Given the description of an element on the screen output the (x, y) to click on. 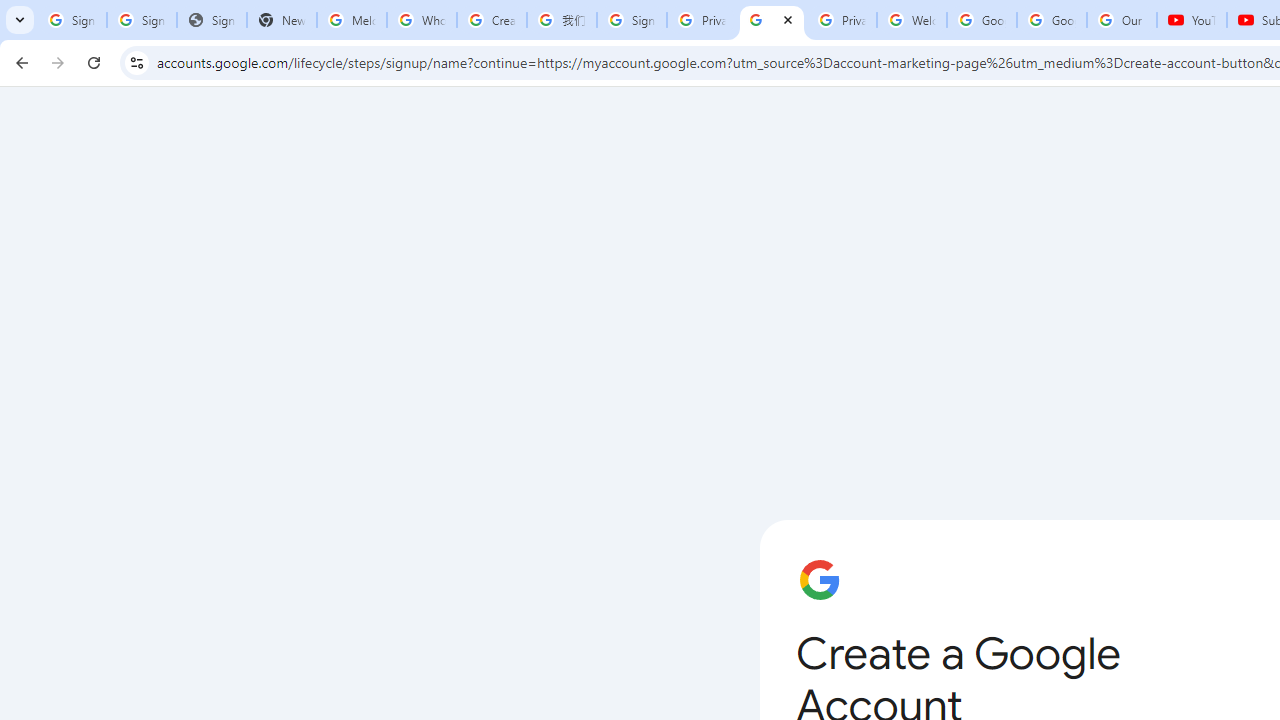
YouTube (1192, 20)
Sign in - Google Accounts (72, 20)
View site information (136, 62)
Welcome to My Activity (911, 20)
